Given the description of an element on the screen output the (x, y) to click on. 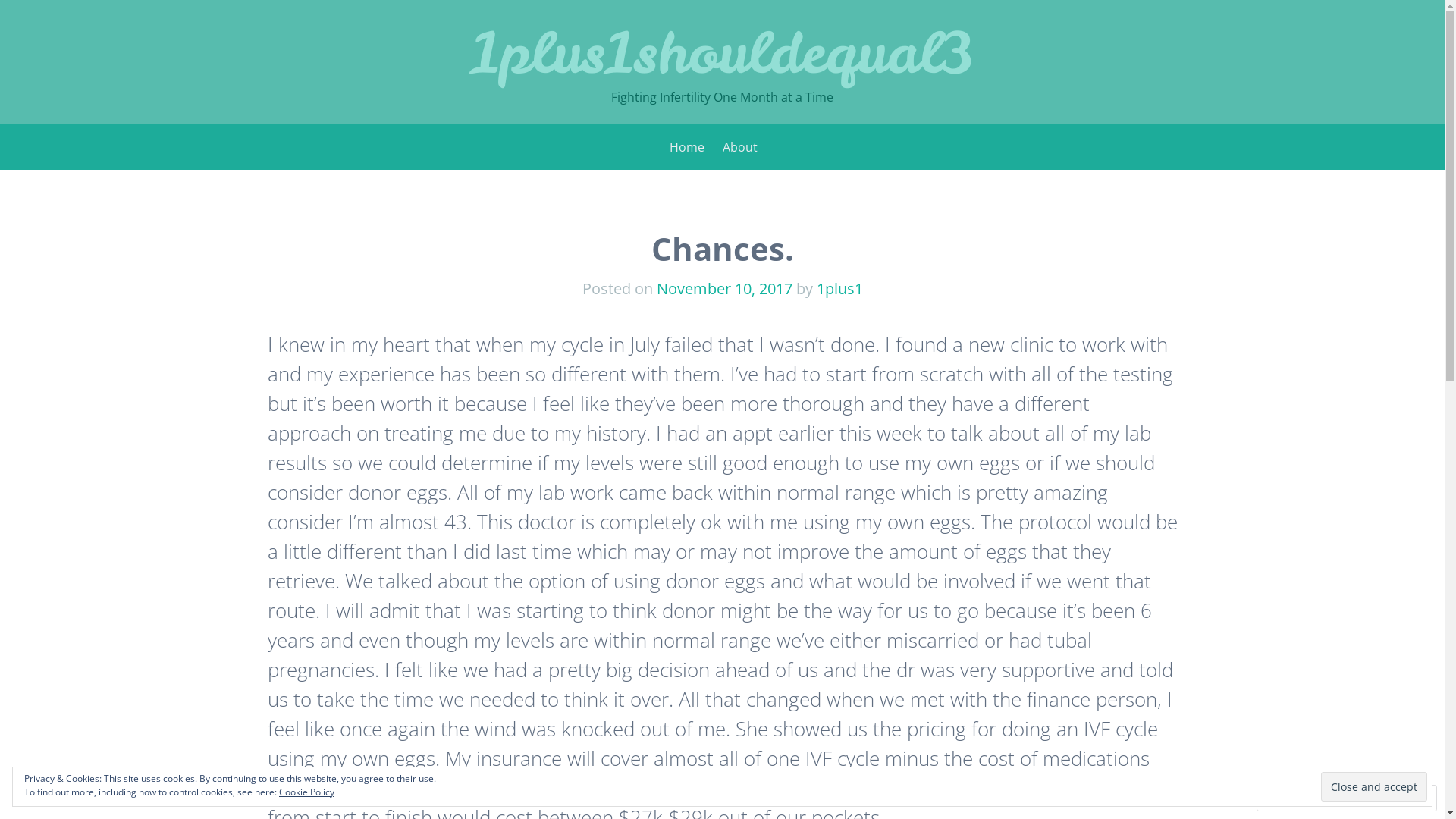
Follow Element type: text (1373, 797)
Comment Element type: text (1297, 797)
Home Element type: text (685, 146)
Cookie Policy Element type: text (306, 791)
Close and accept Element type: text (1374, 786)
November 10, 2017 Element type: text (724, 288)
About Element type: text (738, 146)
1plus1shouldequal3 Element type: text (721, 52)
1plus1 Element type: text (838, 288)
